Given the description of an element on the screen output the (x, y) to click on. 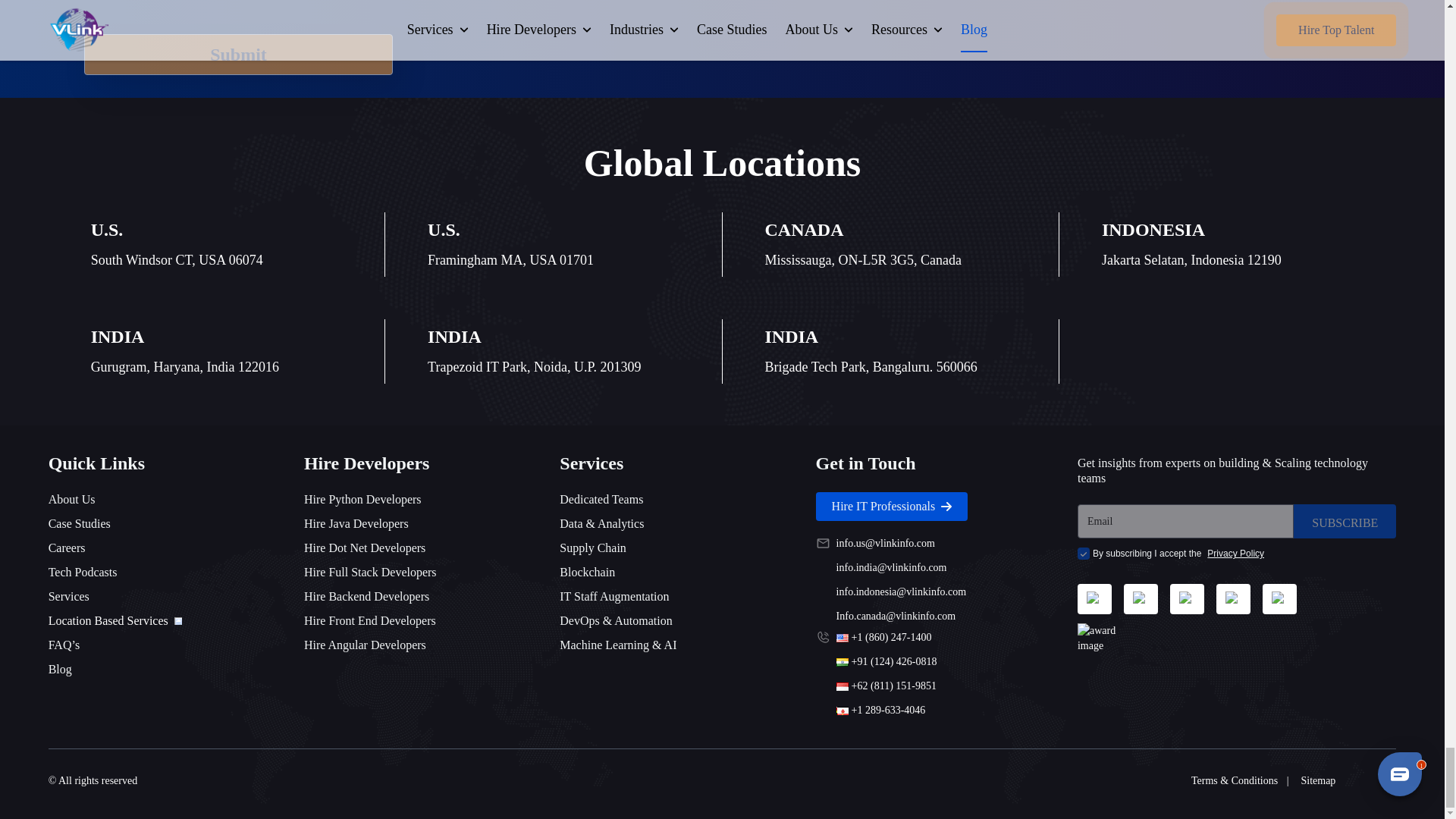
true (1083, 553)
